Given the description of an element on the screen output the (x, y) to click on. 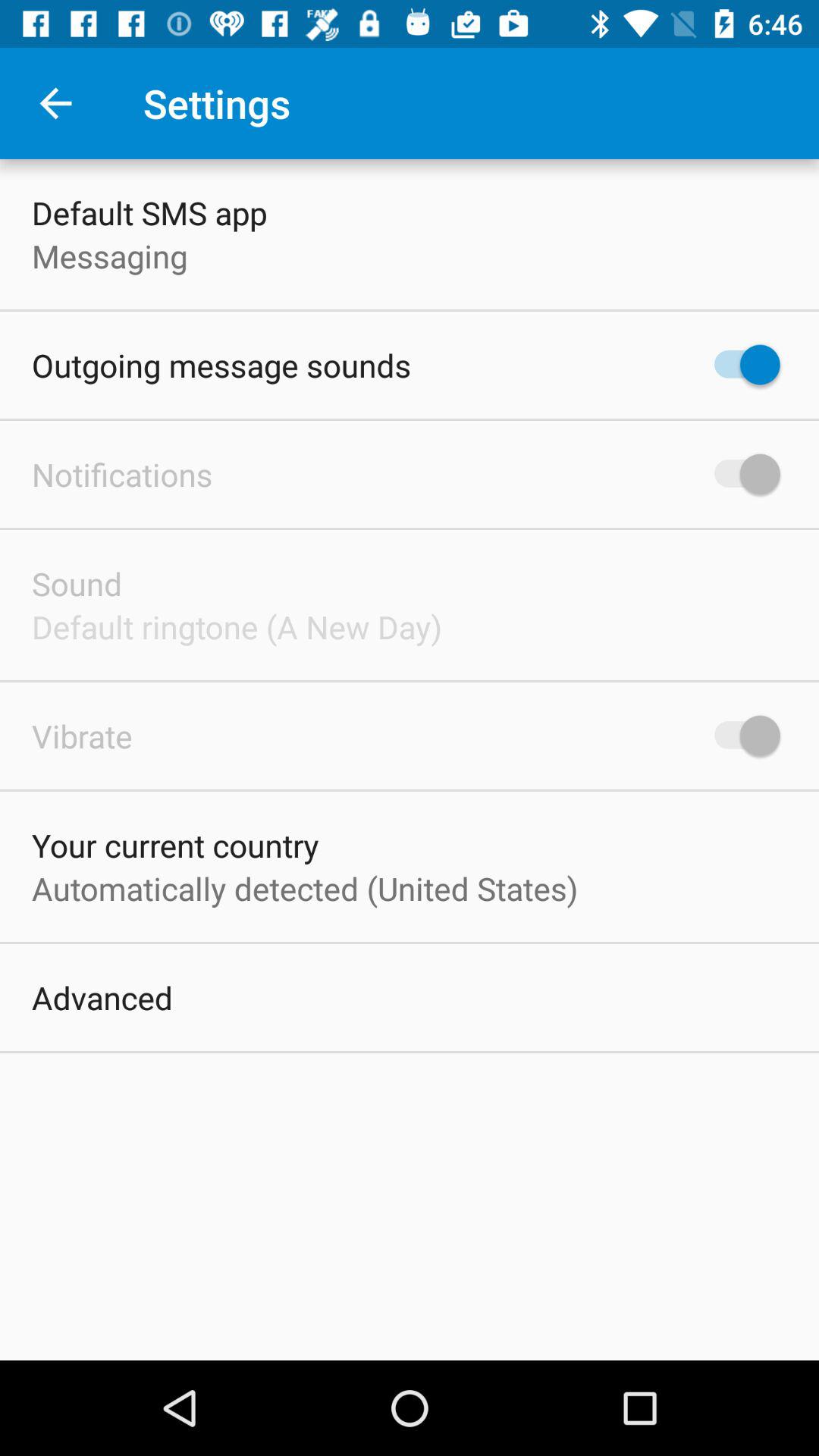
flip to the automatically detected united (304, 888)
